Given the description of an element on the screen output the (x, y) to click on. 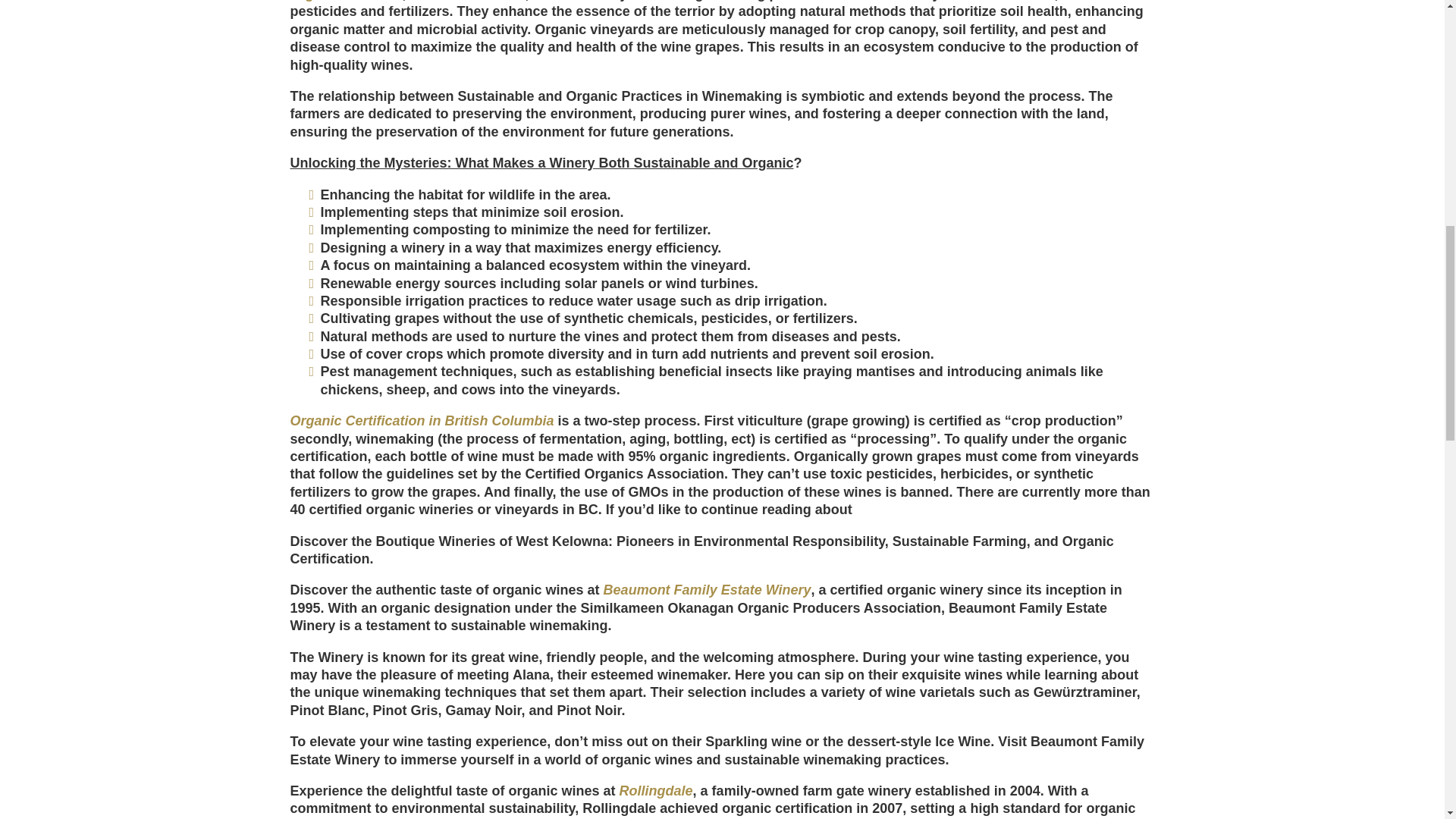
Organic Wineries (345, 0)
Beaumont Family Estate Winery (707, 589)
Rollingdale (656, 790)
Organic Certification in British Columbia (421, 420)
